Given the description of an element on the screen output the (x, y) to click on. 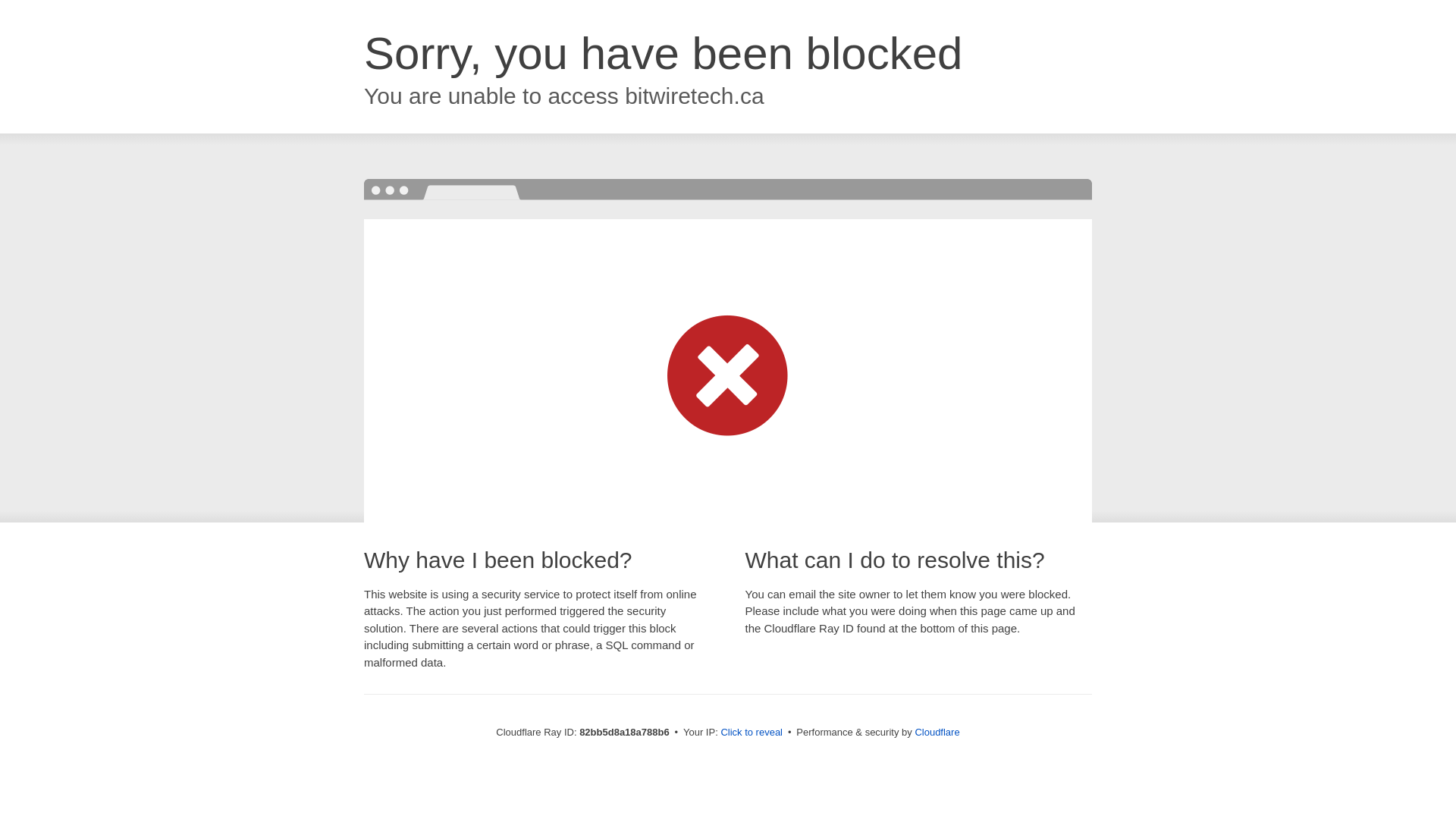
Click to reveal Element type: text (751, 732)
Cloudflare Element type: text (936, 731)
